Given the description of an element on the screen output the (x, y) to click on. 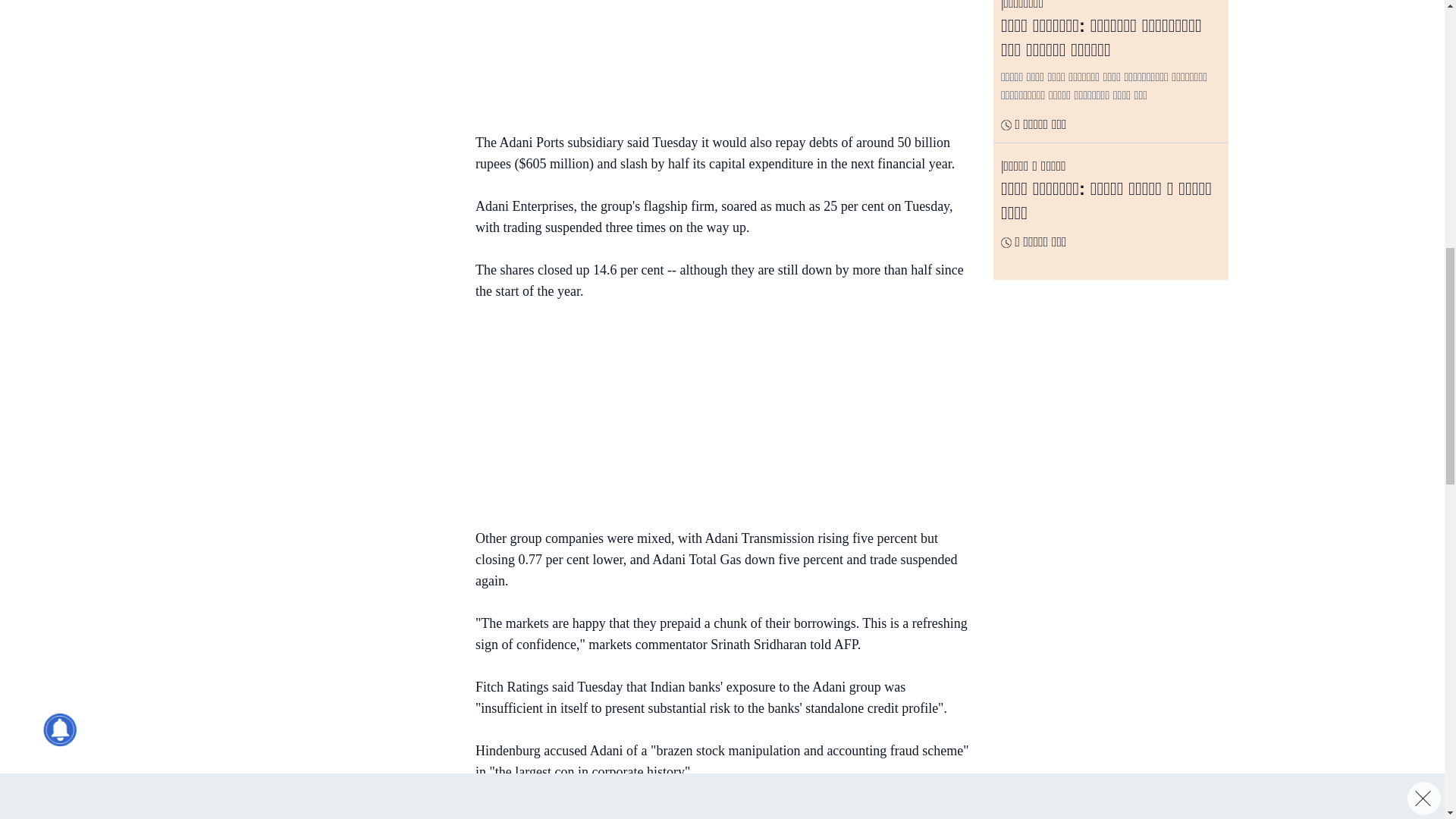
3rd party ad content (332, 208)
3rd party ad content (713, 58)
3rd party ad content (332, 49)
3rd party ad content (713, 417)
